Given the description of an element on the screen output the (x, y) to click on. 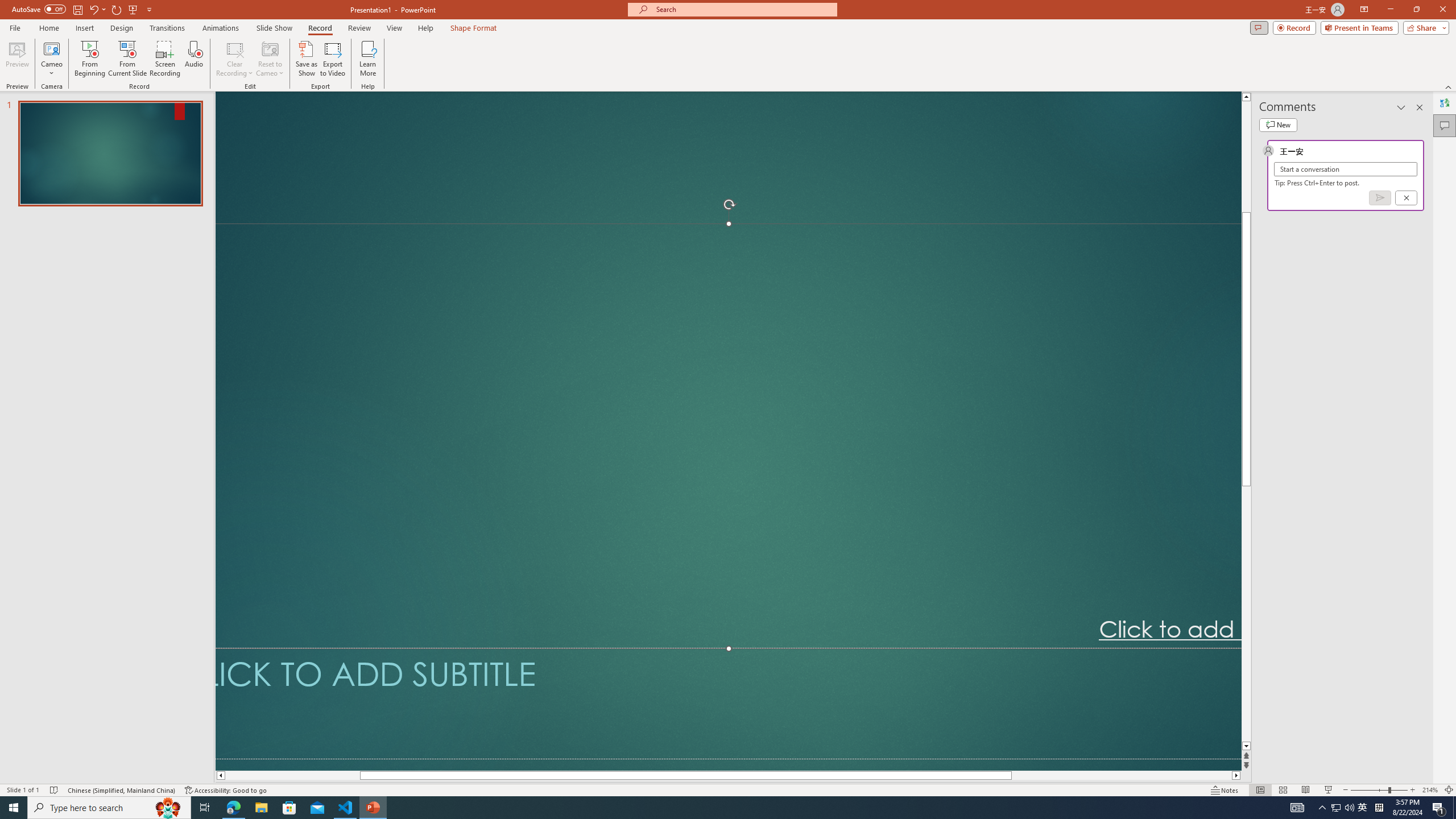
New comment (1278, 124)
